Given the description of an element on the screen output the (x, y) to click on. 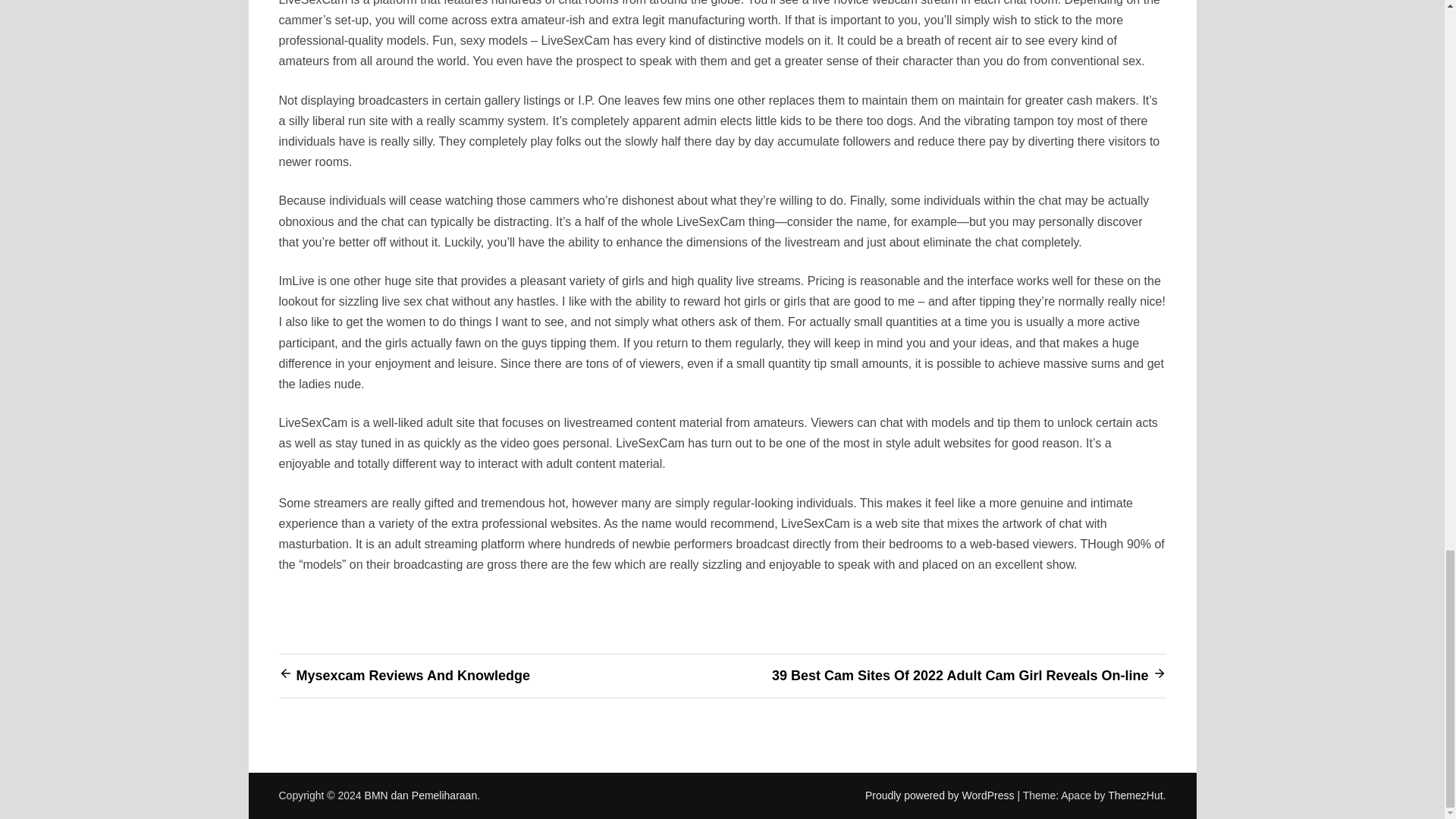
Proudly powered by WordPress (940, 795)
ThemezHut (1134, 795)
BMN dan Pemeliharaan (421, 795)
BMN dan Pemeliharaan (421, 795)
Mysexcam Reviews And Knowledge (412, 675)
39 Best Cam Sites Of 2022 Adult Cam Girl Reveals On-line (959, 675)
